Given the description of an element on the screen output the (x, y) to click on. 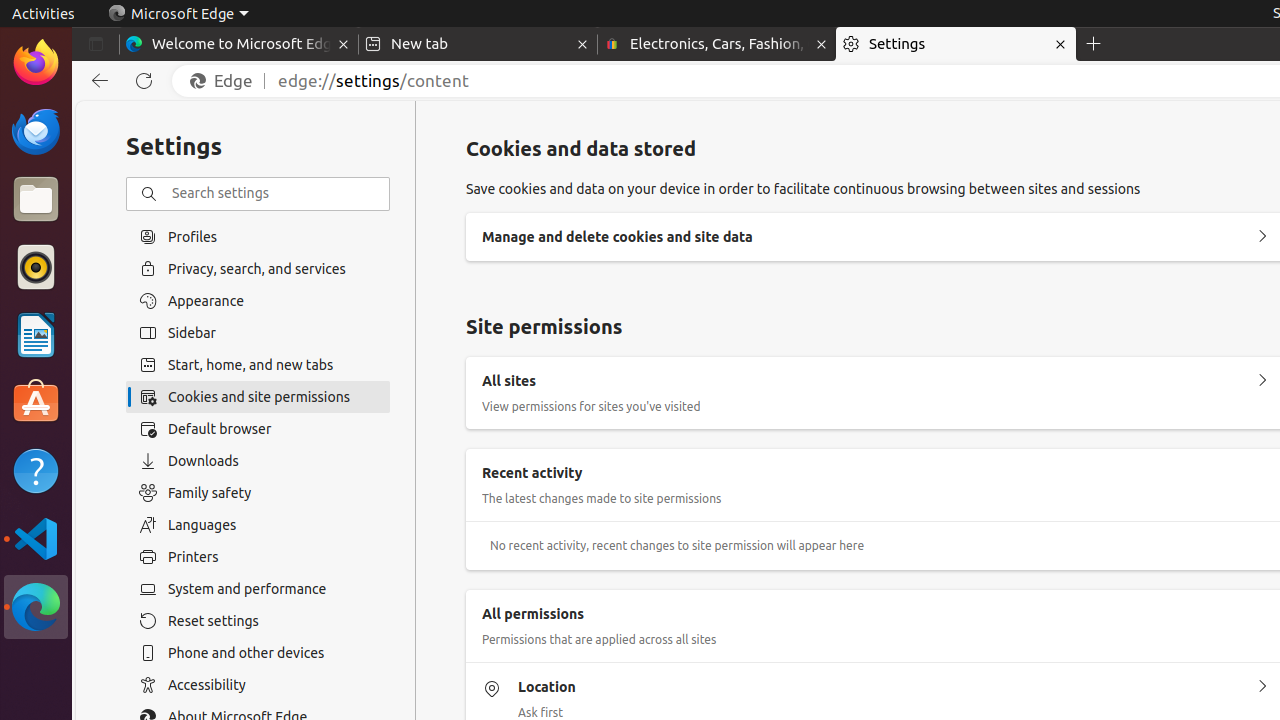
Microsoft Edge Element type: push-button (36, 607)
Reset settings Element type: tree-item (258, 621)
Downloads Element type: tree-item (258, 461)
System and performance Element type: tree-item (258, 589)
Printers Element type: tree-item (258, 557)
